Given the description of an element on the screen output the (x, y) to click on. 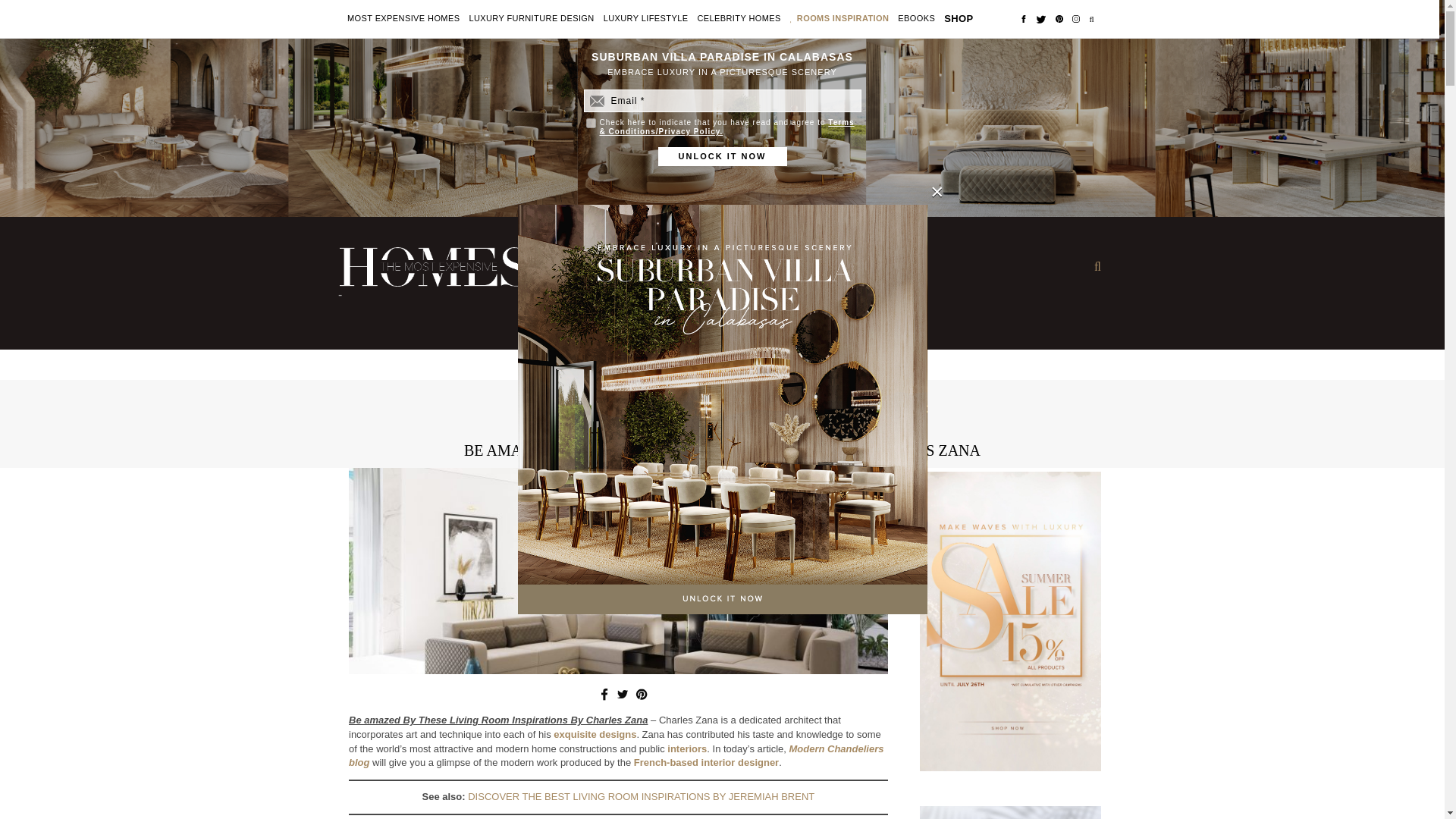
SHOP (957, 18)
Discover the Best Living Room Inspirations by Jeremiah Brent (640, 796)
EBOOKS (916, 19)
UNLOCK IT NOW (722, 156)
UNLOCK IT NOW (722, 156)
ROOMS INSPIRATION (842, 19)
LUXURY LIFESTYLE (646, 19)
MOST EXPENSIVE HOMES (403, 19)
LUXURY FURNITURE DESIGN (531, 19)
on (590, 122)
CELEBRITY HOMES (738, 19)
